Given the description of an element on the screen output the (x, y) to click on. 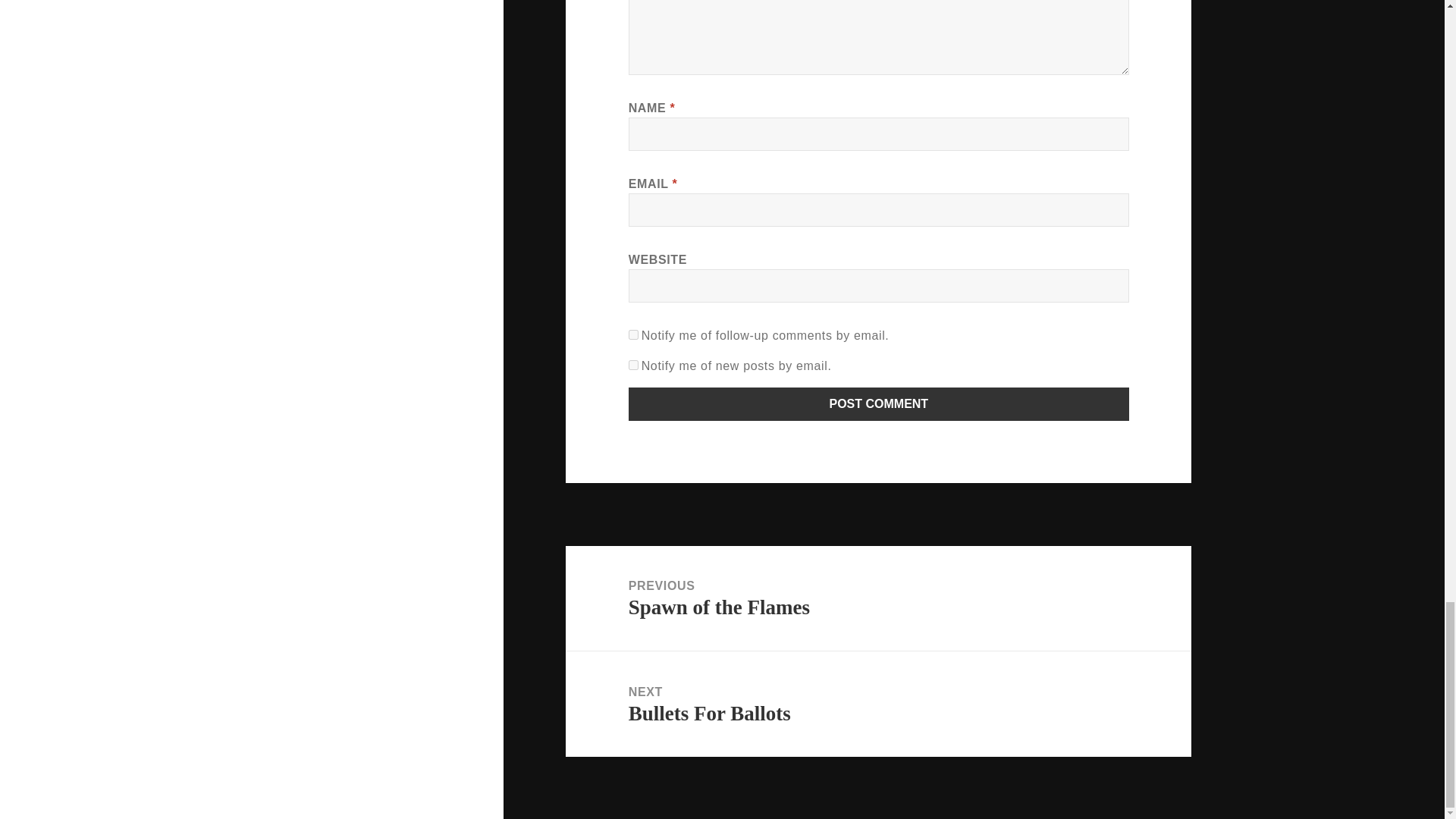
subscribe (633, 365)
Post Comment (878, 403)
subscribe (633, 334)
